Given the description of an element on the screen output the (x, y) to click on. 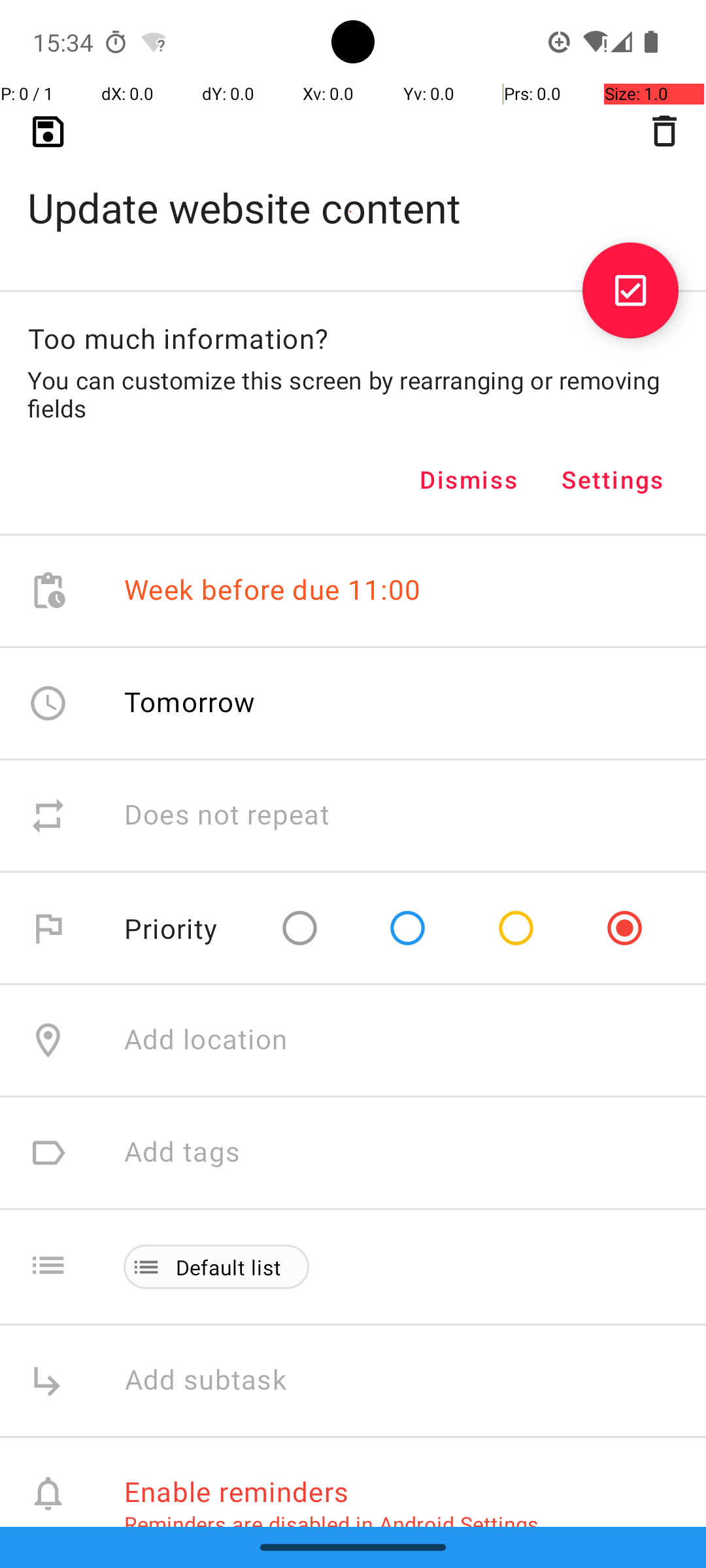
Update website content Element type: android.widget.EditText (353, 186)
Week before due 11:00 Element type: android.widget.TextView (272, 590)
